Given the description of an element on the screen output the (x, y) to click on. 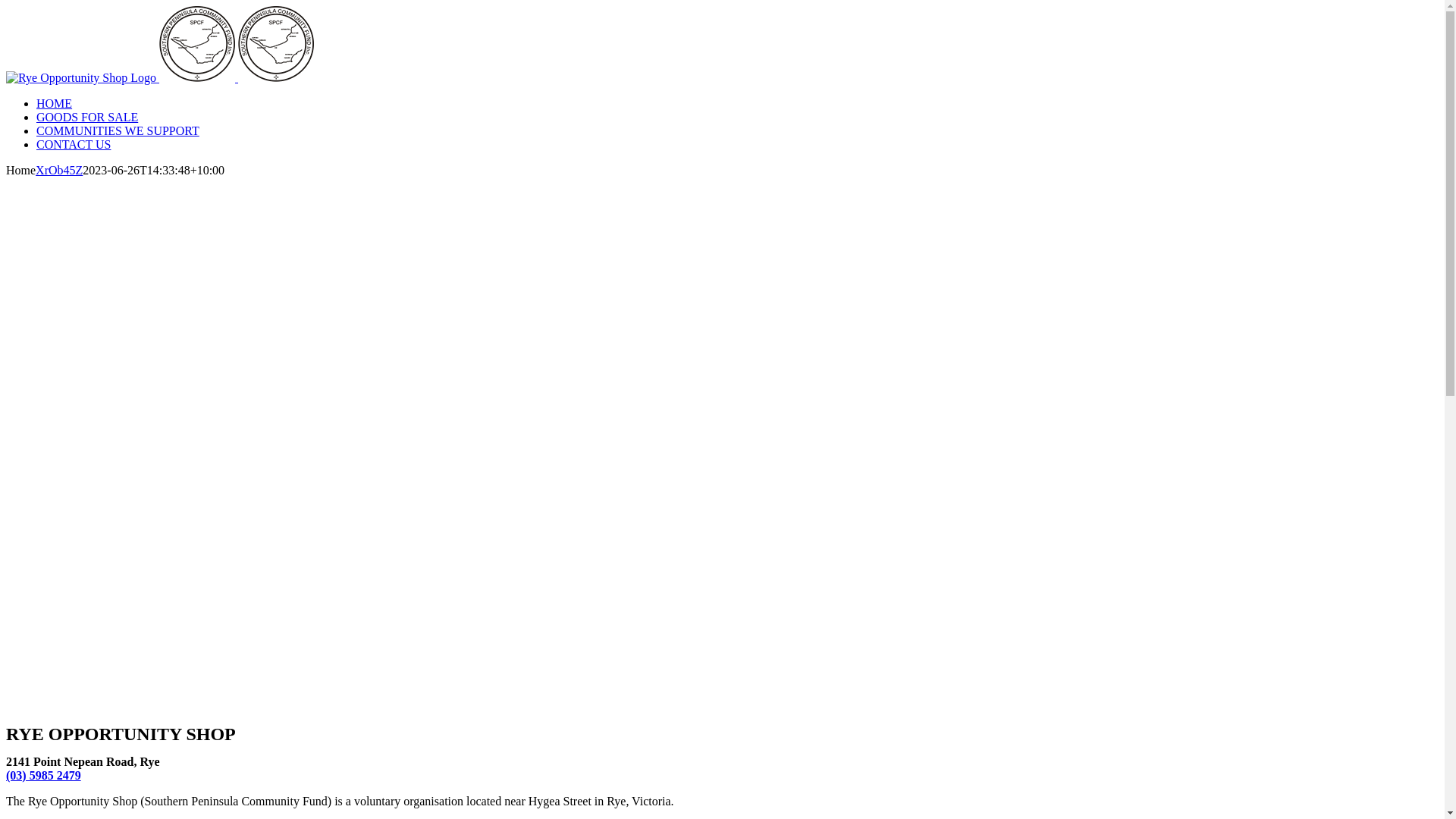
CONTACT US Element type: text (73, 144)
COMMUNITIES WE SUPPORT Element type: text (117, 130)
Skip to content Element type: text (5, 5)
HOME Element type: text (54, 103)
GOODS FOR SALE Element type: text (87, 116)
(03) 5985 2479 Element type: text (43, 774)
XrOb45Z Element type: text (58, 169)
